Given the description of an element on the screen output the (x, y) to click on. 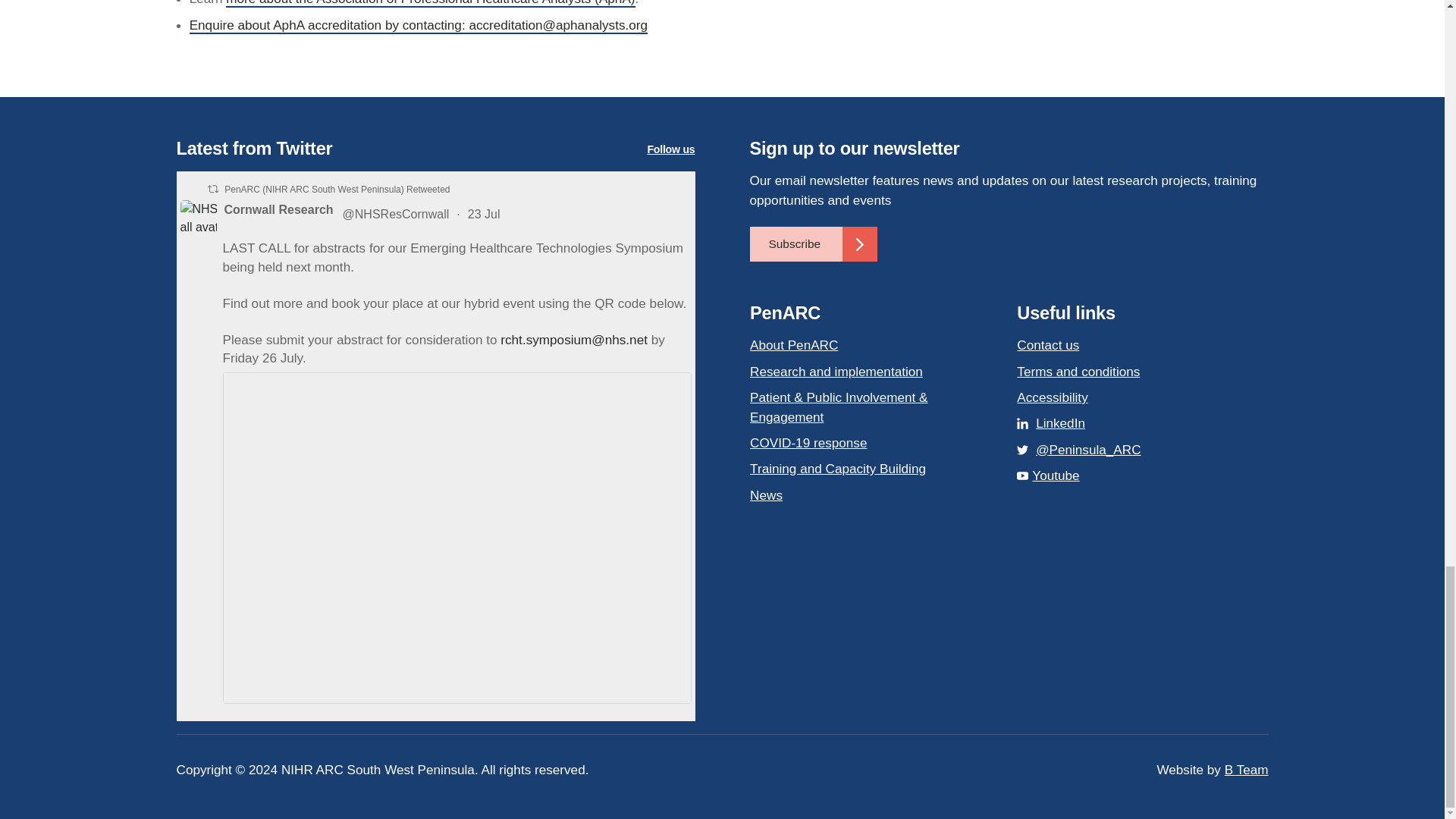
Follow us (670, 149)
Retweet on Twitter (213, 188)
; (198, 217)
23 Jul 1815709956282171878 (485, 214)
Cornwall Research (278, 209)
